Given the description of an element on the screen output the (x, y) to click on. 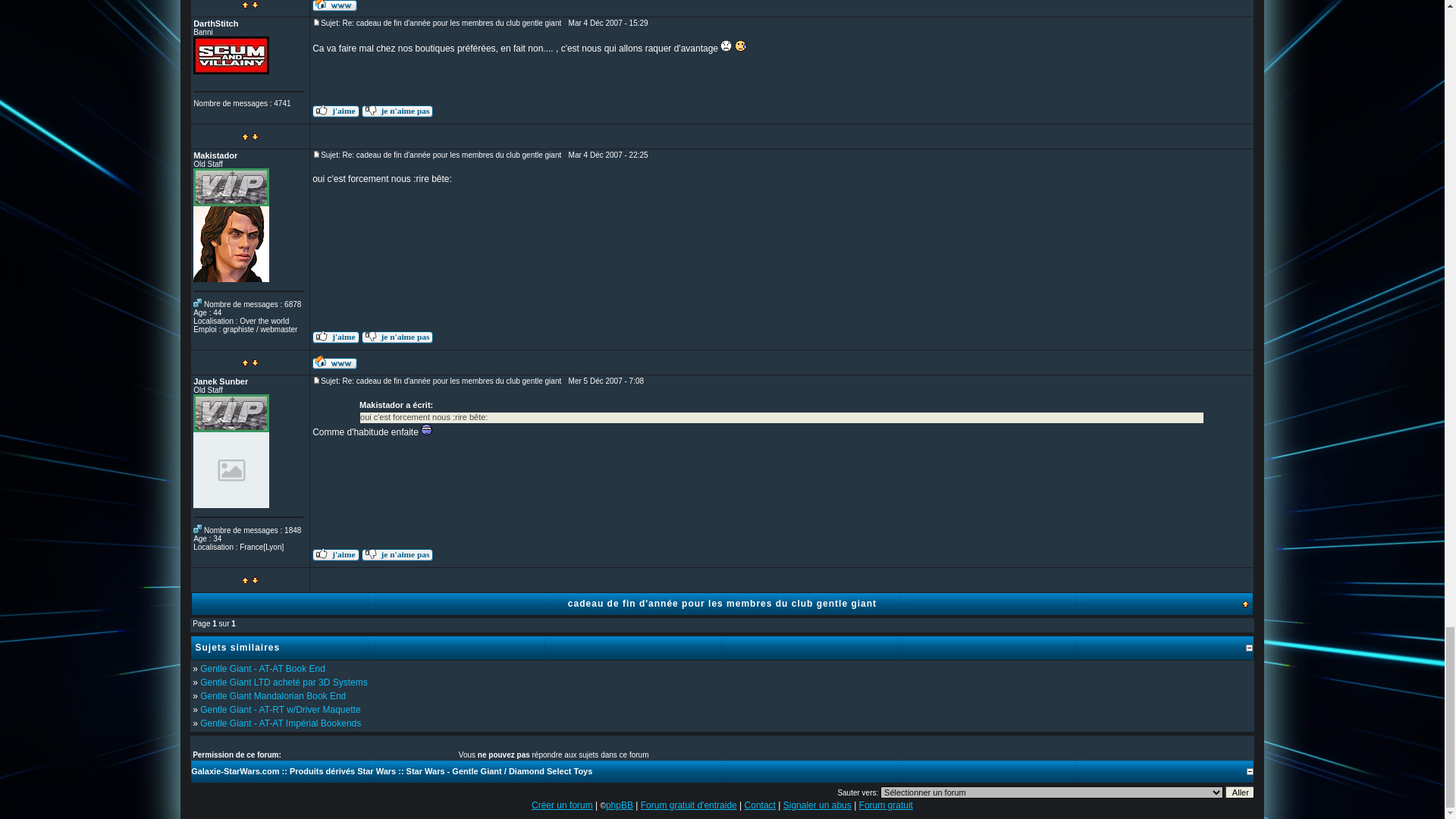
Aller (1239, 792)
